Given the description of an element on the screen output the (x, y) to click on. 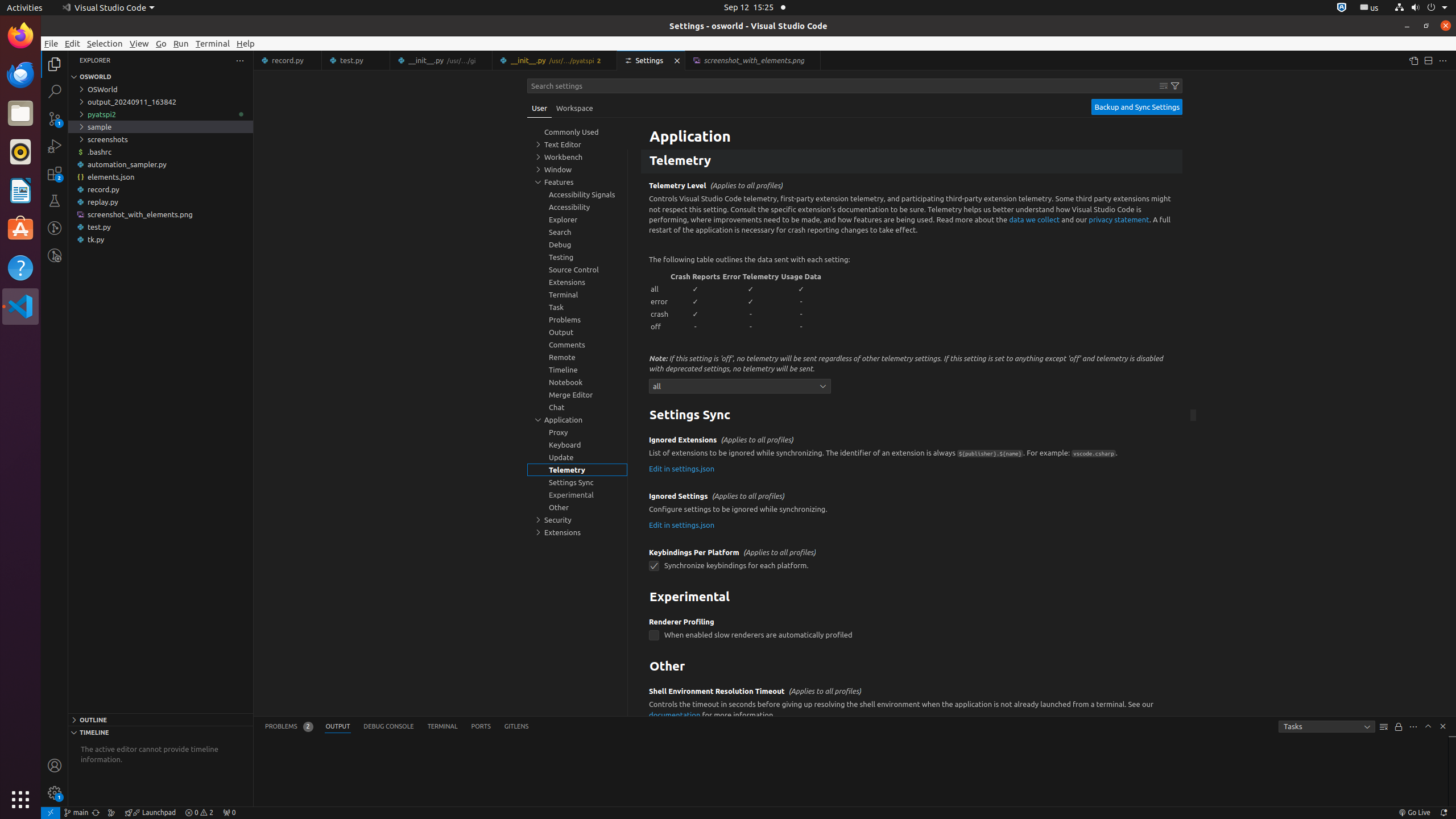
Terminal, group Element type: tree-item (577, 294)
More Actions... (Shift+F9) Element type: push-button (634, 689)
Settings Sync, group Element type: tree-item (577, 482)
Close (Ctrl+W) Element type: push-button (812, 60)
Problems, group Element type: tree-item (577, 319)
